Given the description of an element on the screen output the (x, y) to click on. 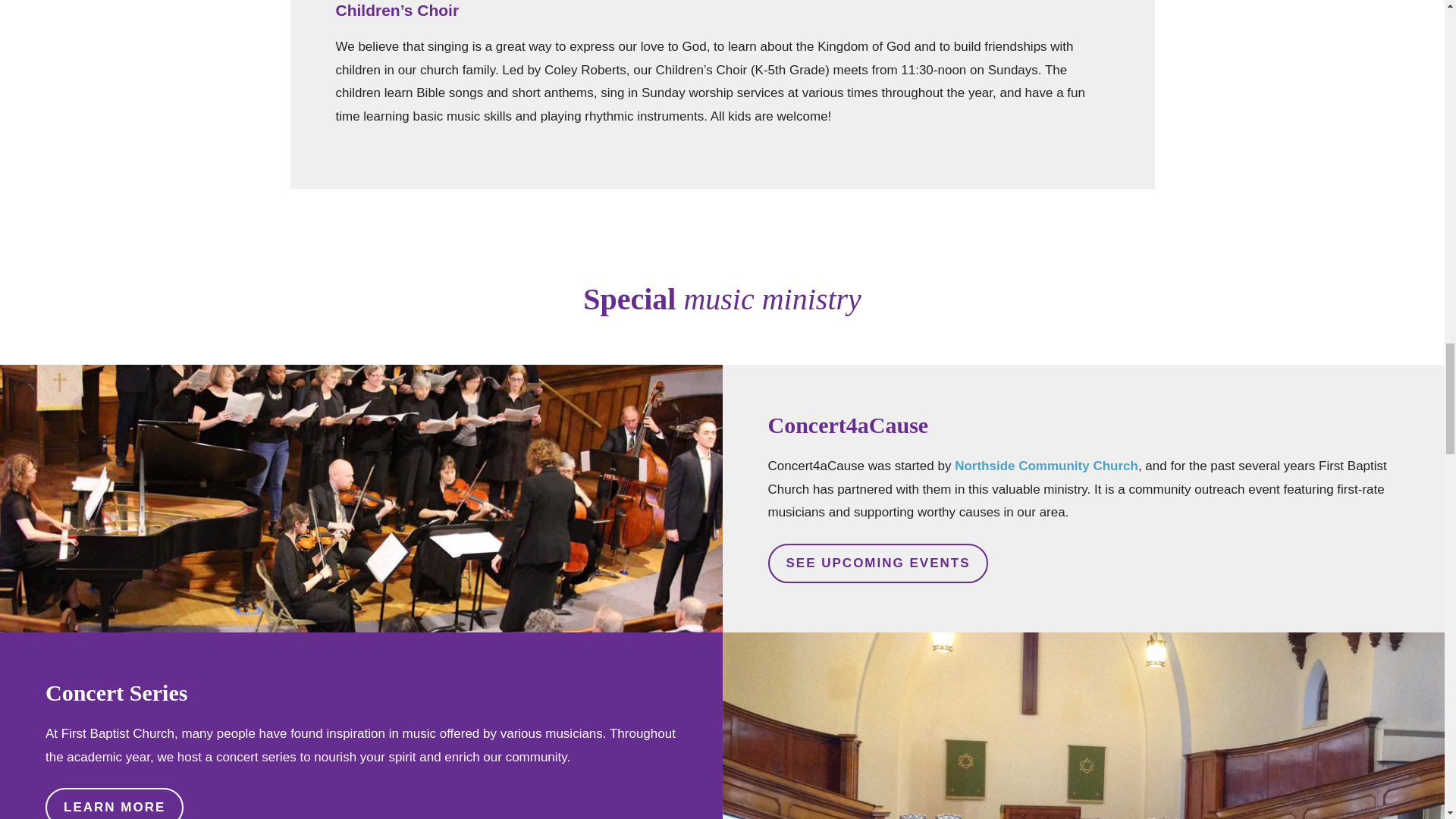
Northside Community Church (1046, 465)
SEE UPCOMING EVENTS (877, 563)
